Given the description of an element on the screen output the (x, y) to click on. 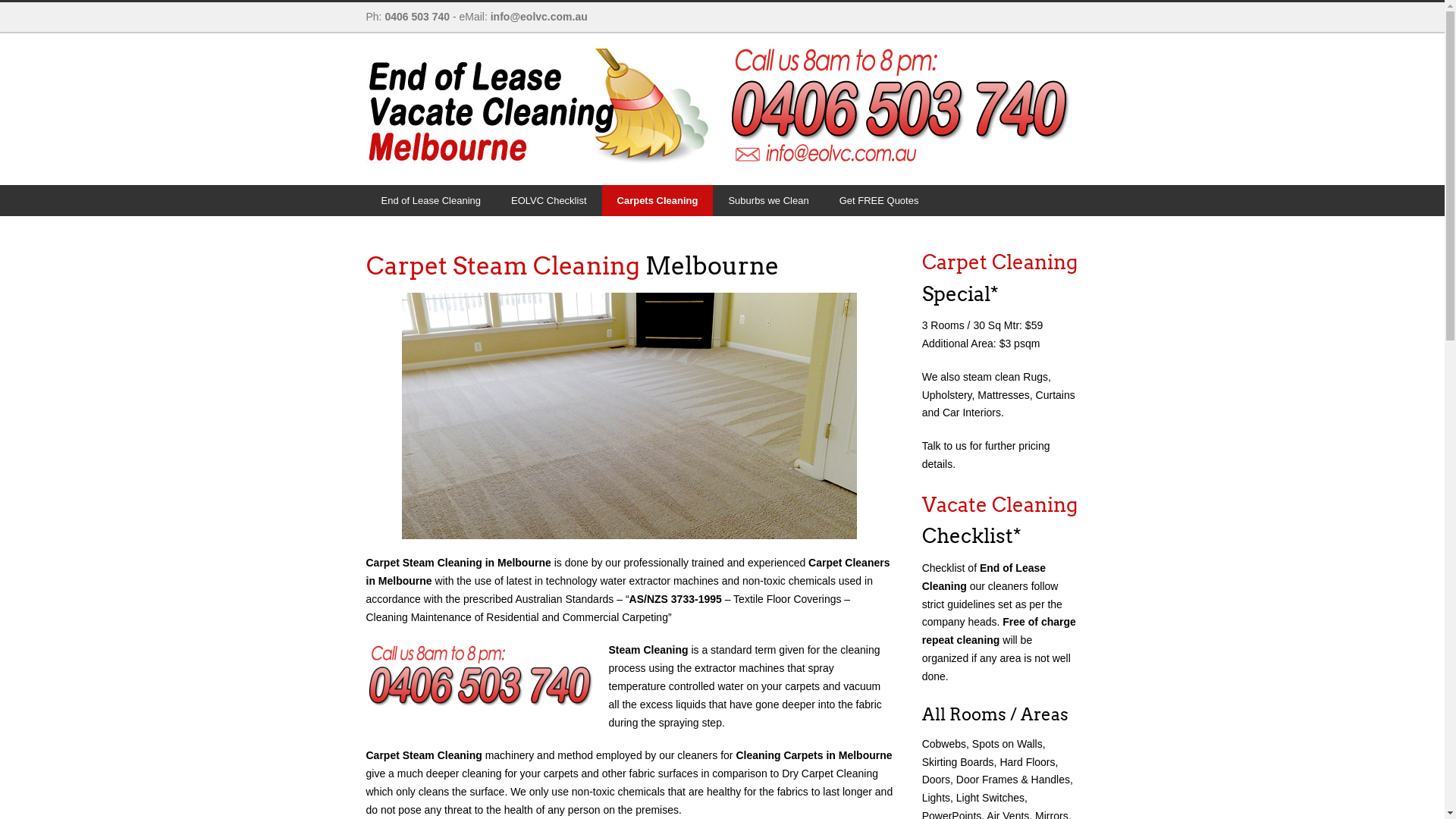
Carpets Cleaning Element type: text (657, 200)
EOLVC Checklist Element type: text (548, 200)
0406 503 740 Element type: text (416, 16)
info@eolvc.com.au Element type: text (538, 16)
Suburbs we Clean Element type: text (767, 200)
Get FREE Quotes Element type: text (879, 200)
End of Lease Cleaning Element type: text (430, 200)
